Given the description of an element on the screen output the (x, y) to click on. 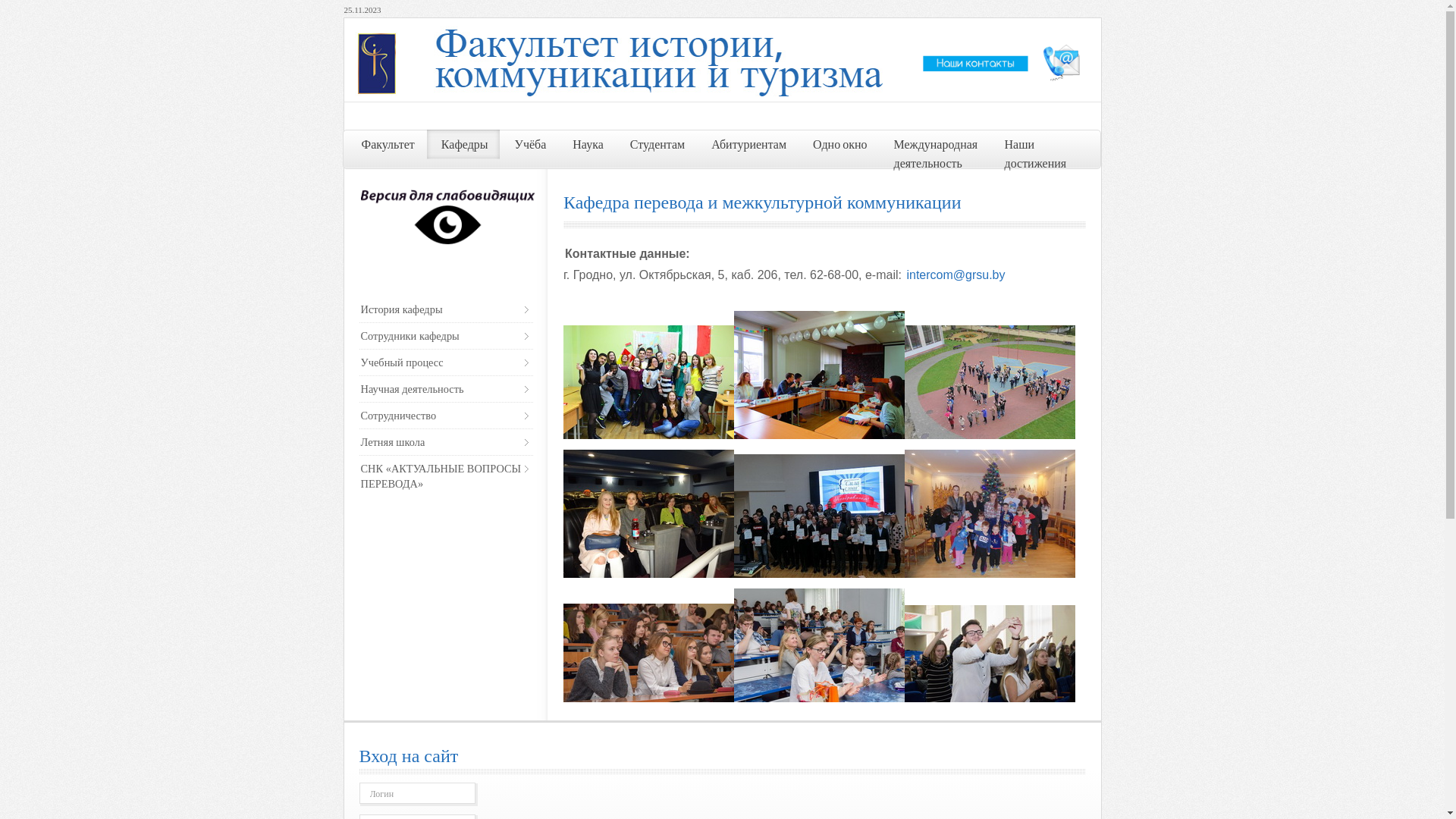
intercom@grsu.by Element type: text (955, 274)
